Given the description of an element on the screen output the (x, y) to click on. 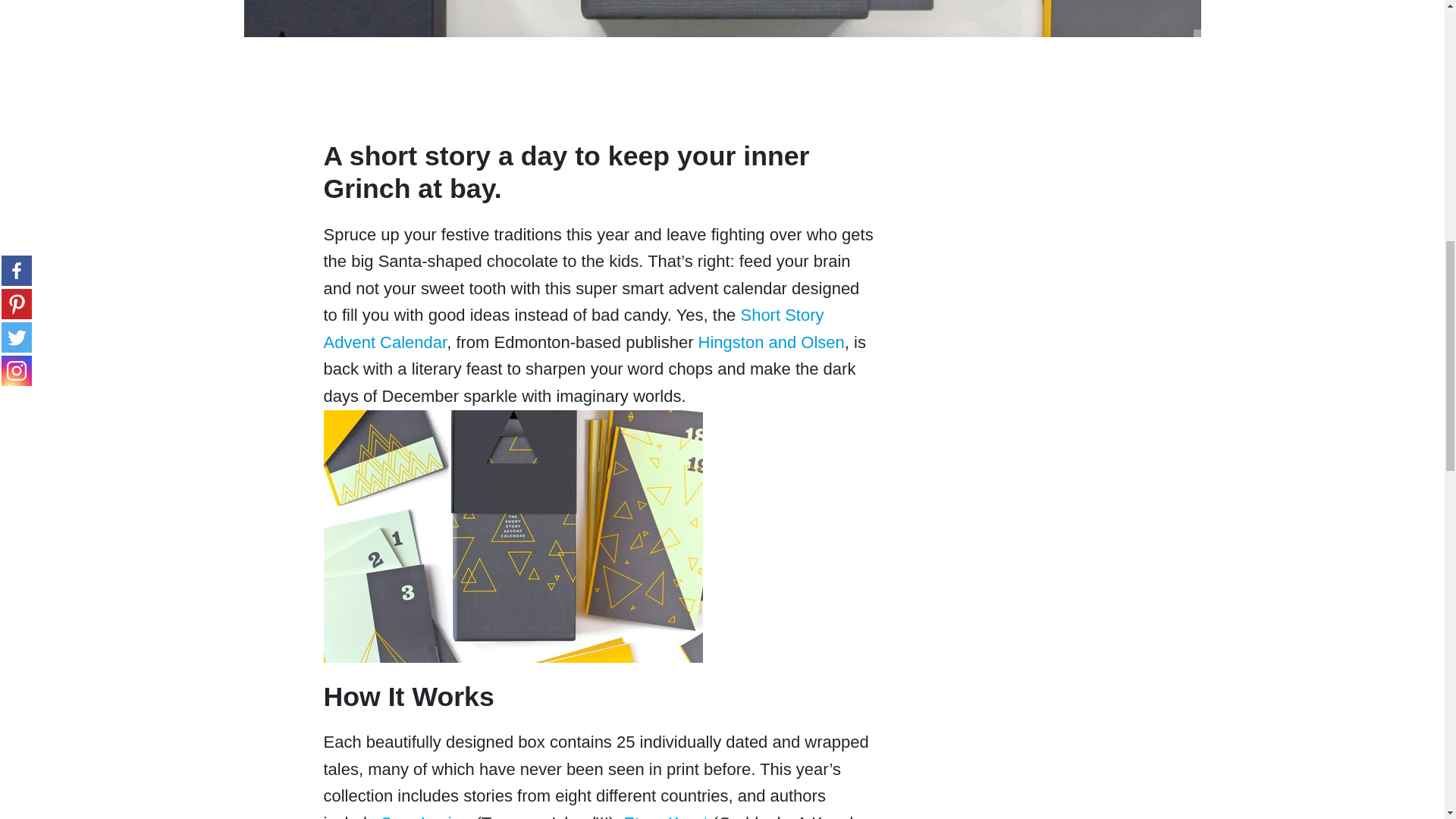
3rd party ad content (1084, 144)
3rd party ad content (1084, 345)
3rd party ad content (599, 94)
